Given the description of an element on the screen output the (x, y) to click on. 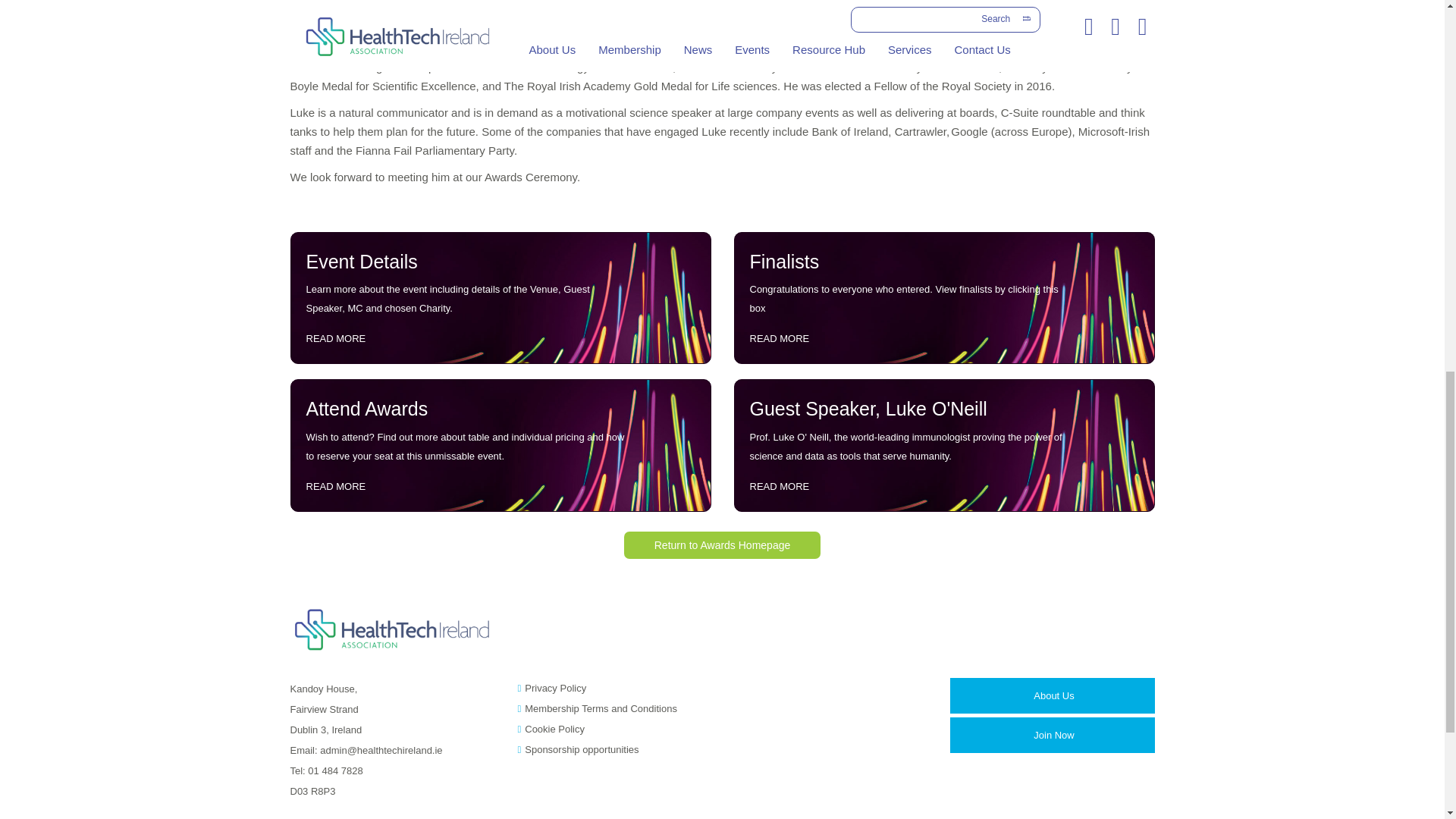
Privacy Policy (555, 687)
01 484 7828 (334, 770)
Return to Awards Homepage (722, 543)
Membership Terms and Conditions (600, 708)
